Given the description of an element on the screen output the (x, y) to click on. 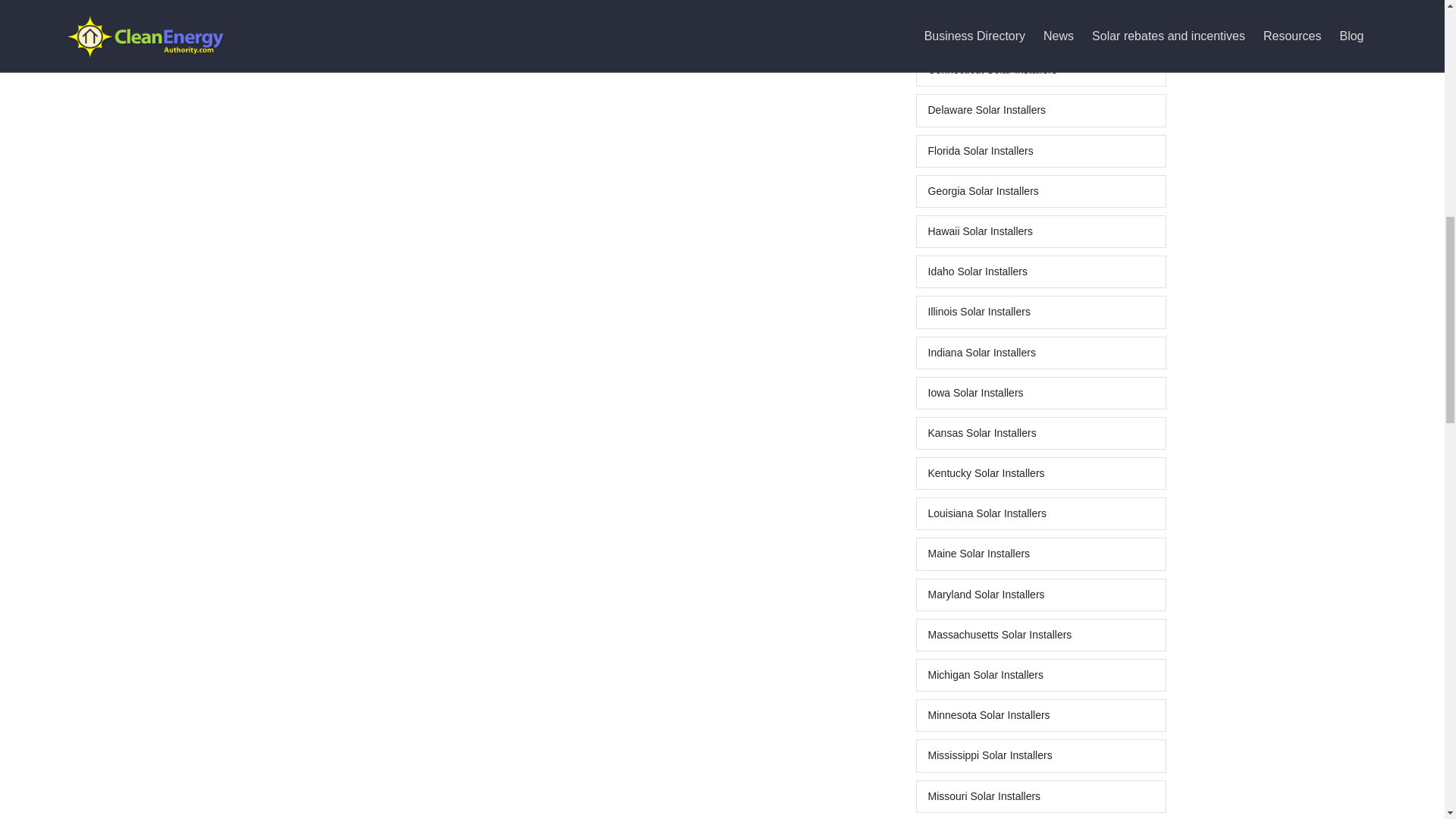
Hawaii Solar Installers (1040, 231)
Connecticut Solar Installers (1040, 70)
Indiana Solar Installers (1040, 352)
Georgia Solar Installers (1040, 191)
Idaho Solar Installers (1040, 271)
California Solar Installers (1040, 2)
Colorado Solar Installers (1040, 29)
Illinois Solar Installers (1040, 311)
Florida Solar Installers (1040, 151)
Delaware Solar Installers (1040, 110)
